Given the description of an element on the screen output the (x, y) to click on. 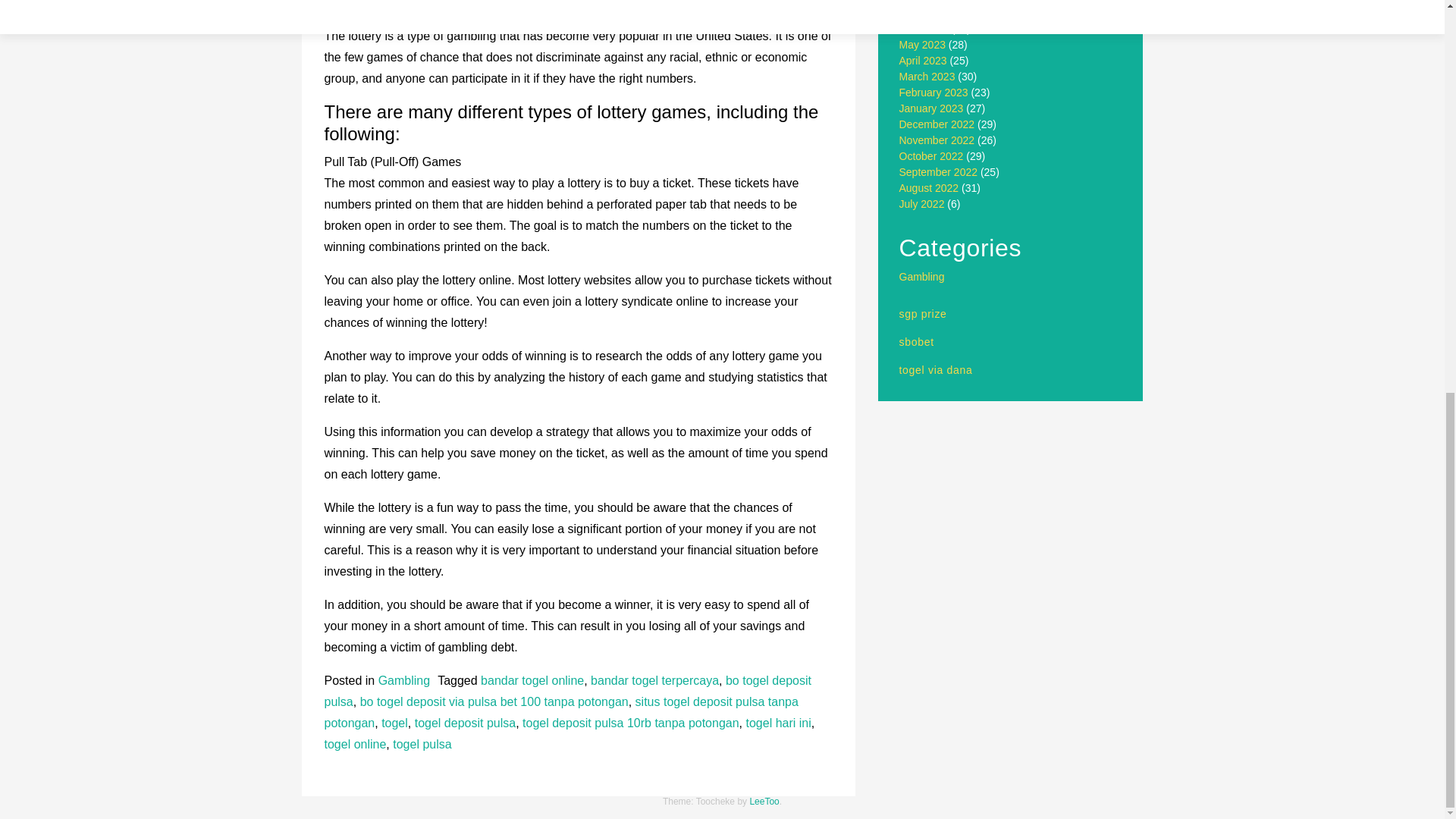
Gambling (403, 680)
togel hari ini (777, 722)
togel deposit pulsa (464, 722)
August 2023 (929, 1)
bandar togel terpercaya (655, 680)
togel (394, 722)
April 2023 (923, 60)
July 2023 (921, 12)
bo togel deposit via pulsa bet 100 tanpa potongan (493, 701)
bo togel deposit pulsa (567, 691)
